Given the description of an element on the screen output the (x, y) to click on. 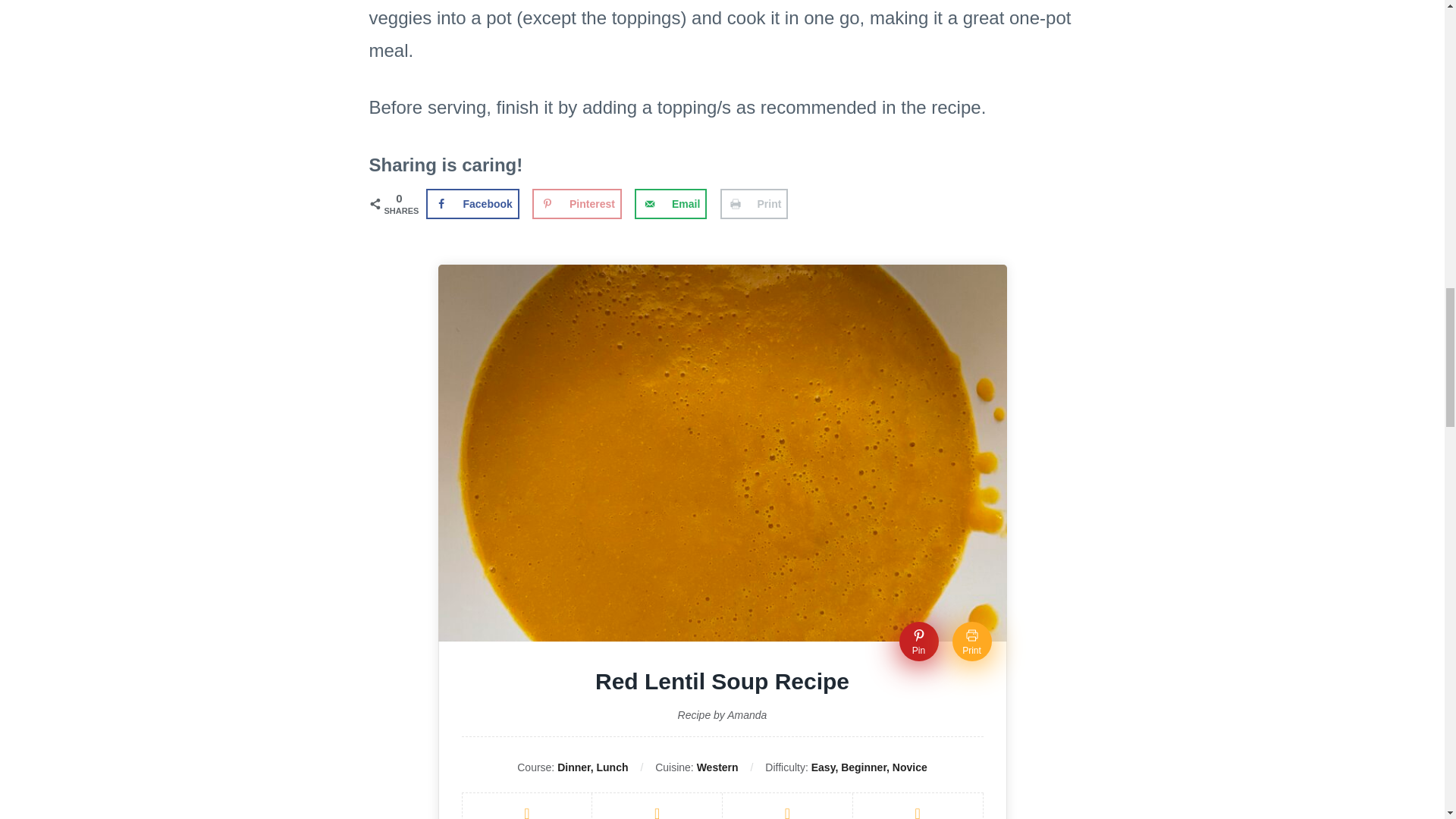
Facebook (472, 204)
Email (670, 204)
Pin (919, 640)
Save to Pinterest (576, 204)
Pinterest (576, 204)
Print directions... (971, 640)
Share on Facebook (472, 204)
Print (971, 640)
Print (754, 204)
Print this webpage (754, 204)
